Given the description of an element on the screen output the (x, y) to click on. 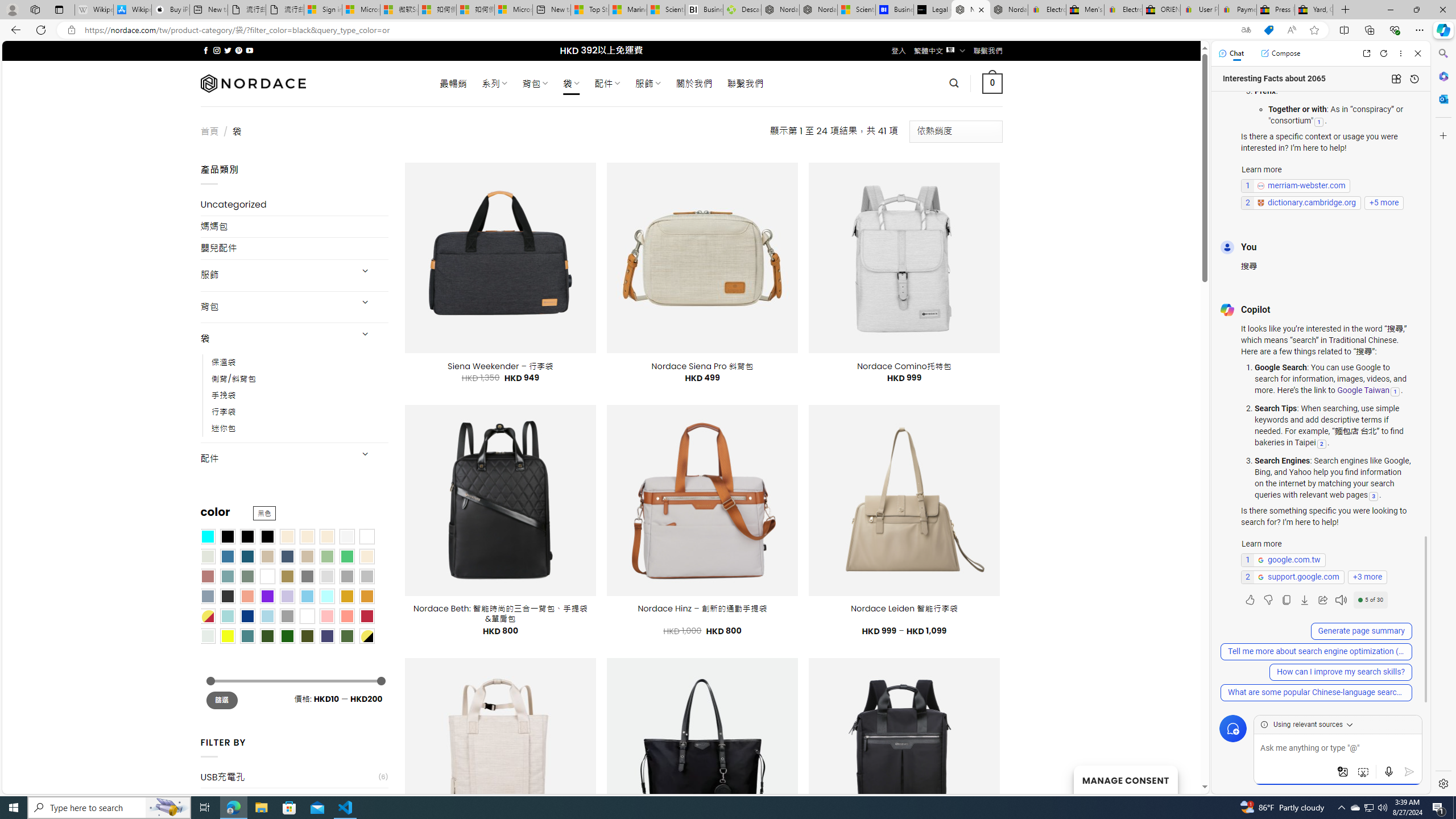
Descarga Driver Updater (741, 9)
